Given the description of an element on the screen output the (x, y) to click on. 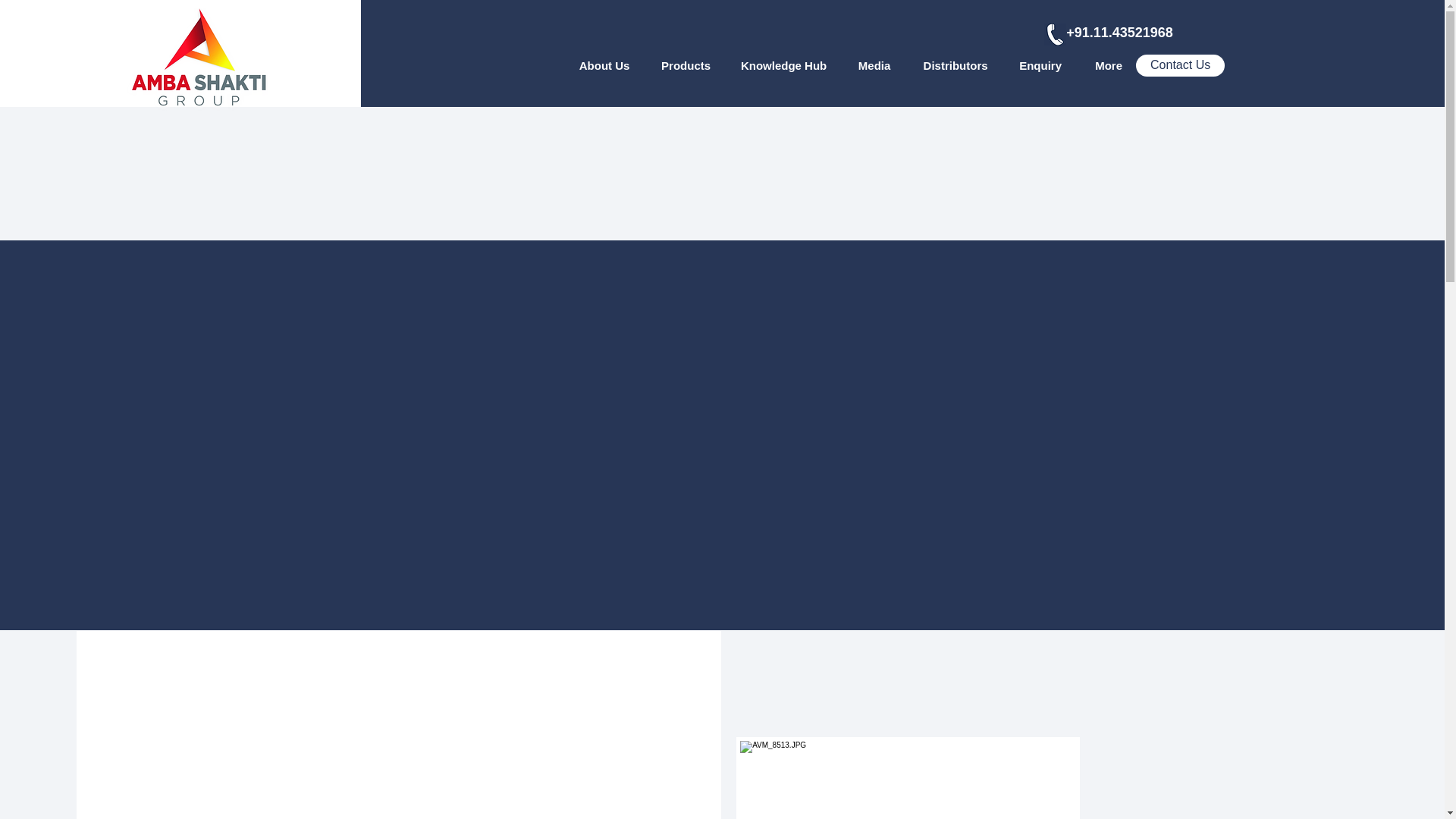
Contact Us (1179, 65)
Enquiry (1040, 65)
